Given the description of an element on the screen output the (x, y) to click on. 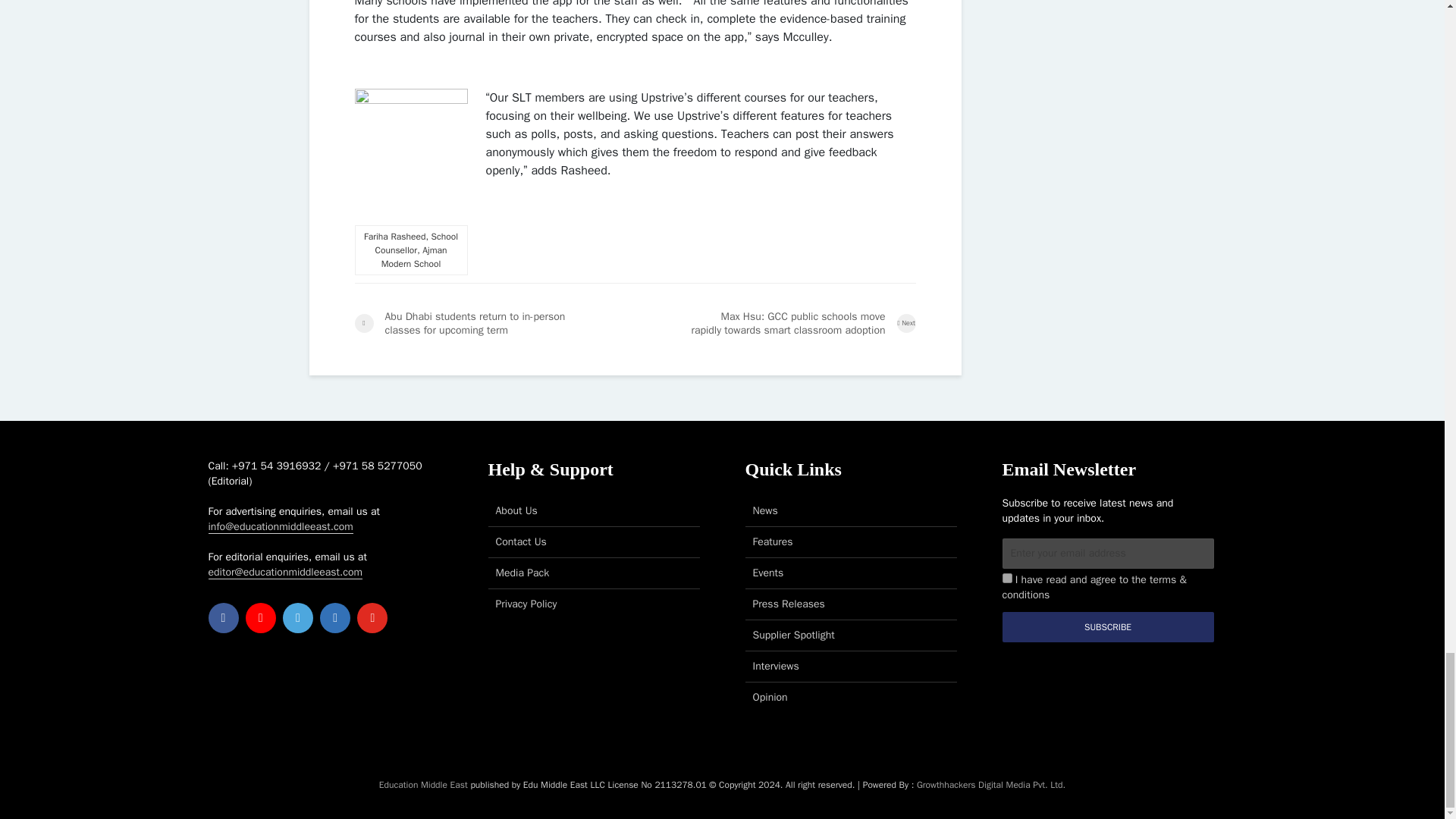
instagram (261, 617)
Subscribe (1108, 626)
Facebook (223, 617)
LinkedIn (335, 617)
1 (1007, 578)
Youtube (371, 617)
Subscribe (1108, 626)
Twitter (297, 617)
